Given the description of an element on the screen output the (x, y) to click on. 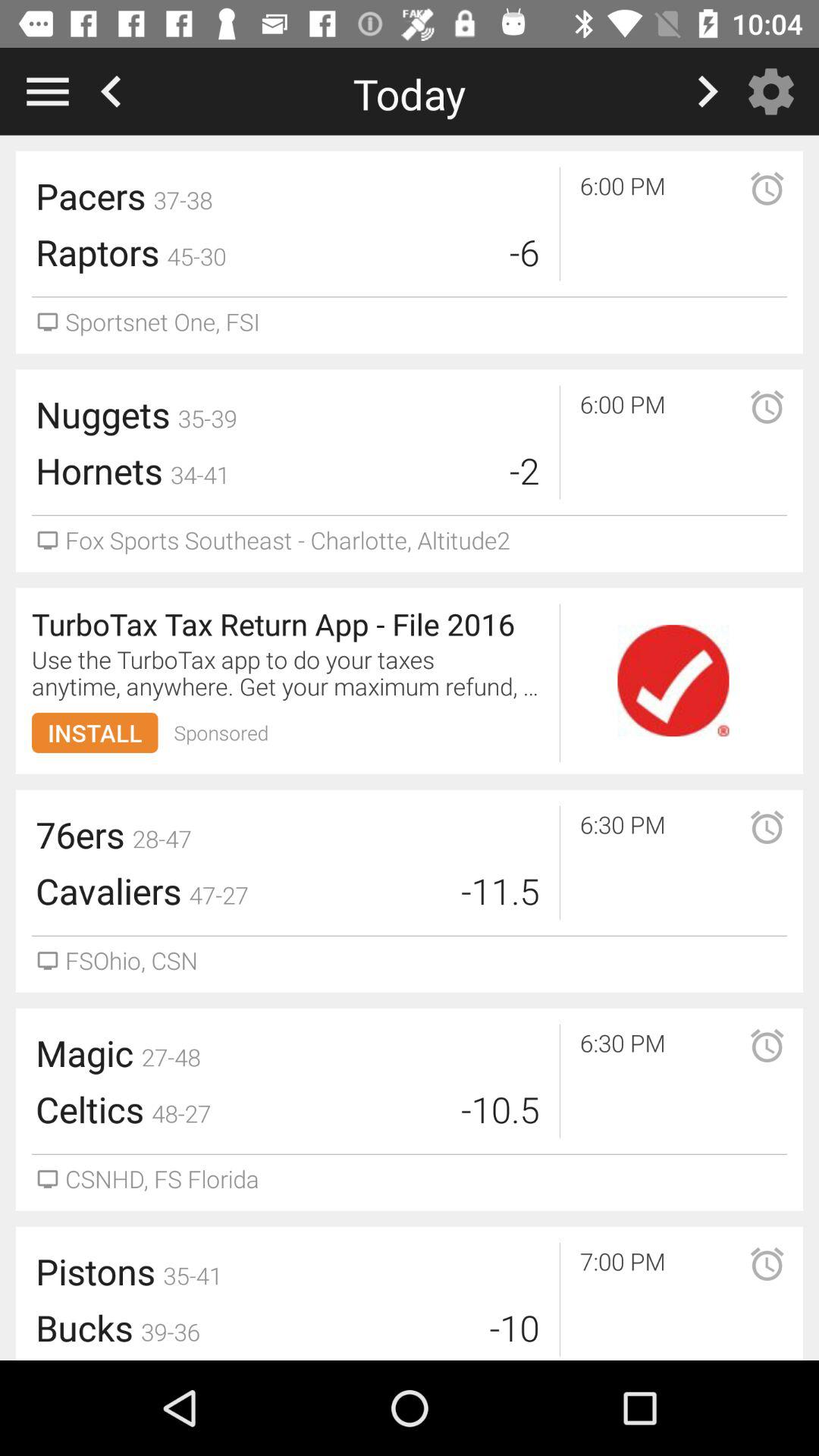
go to check (673, 680)
